Given the description of an element on the screen output the (x, y) to click on. 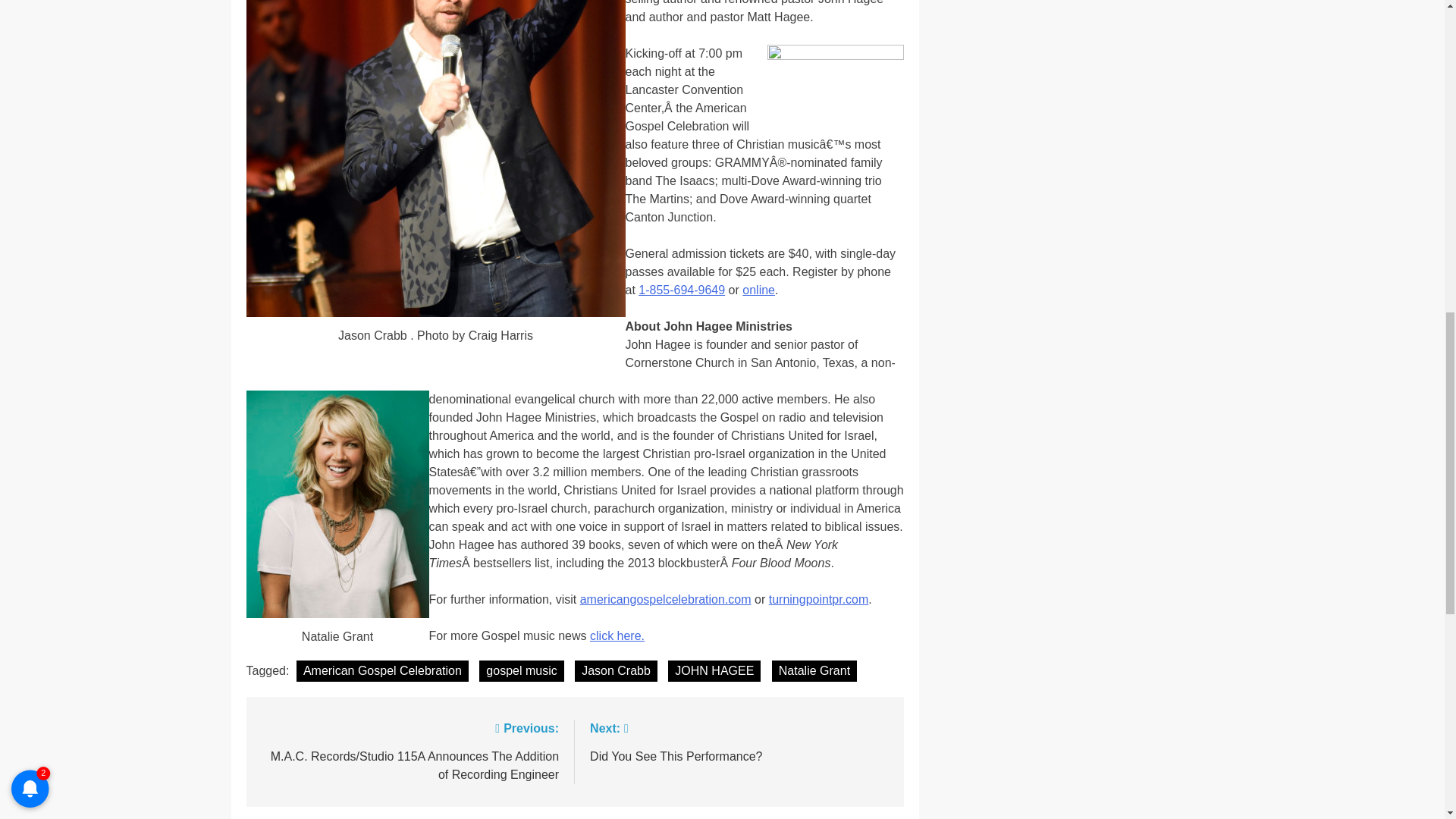
online (758, 289)
Natalie Grant (814, 670)
click here. (617, 635)
Jason Crabb (616, 670)
turningpointpr.com (818, 599)
JOHN HAGEE (714, 670)
American Gospel Celebration (382, 670)
americangospelcelebration.com (665, 599)
gospel music (738, 740)
1-855-694-9649 (521, 670)
